Given the description of an element on the screen output the (x, y) to click on. 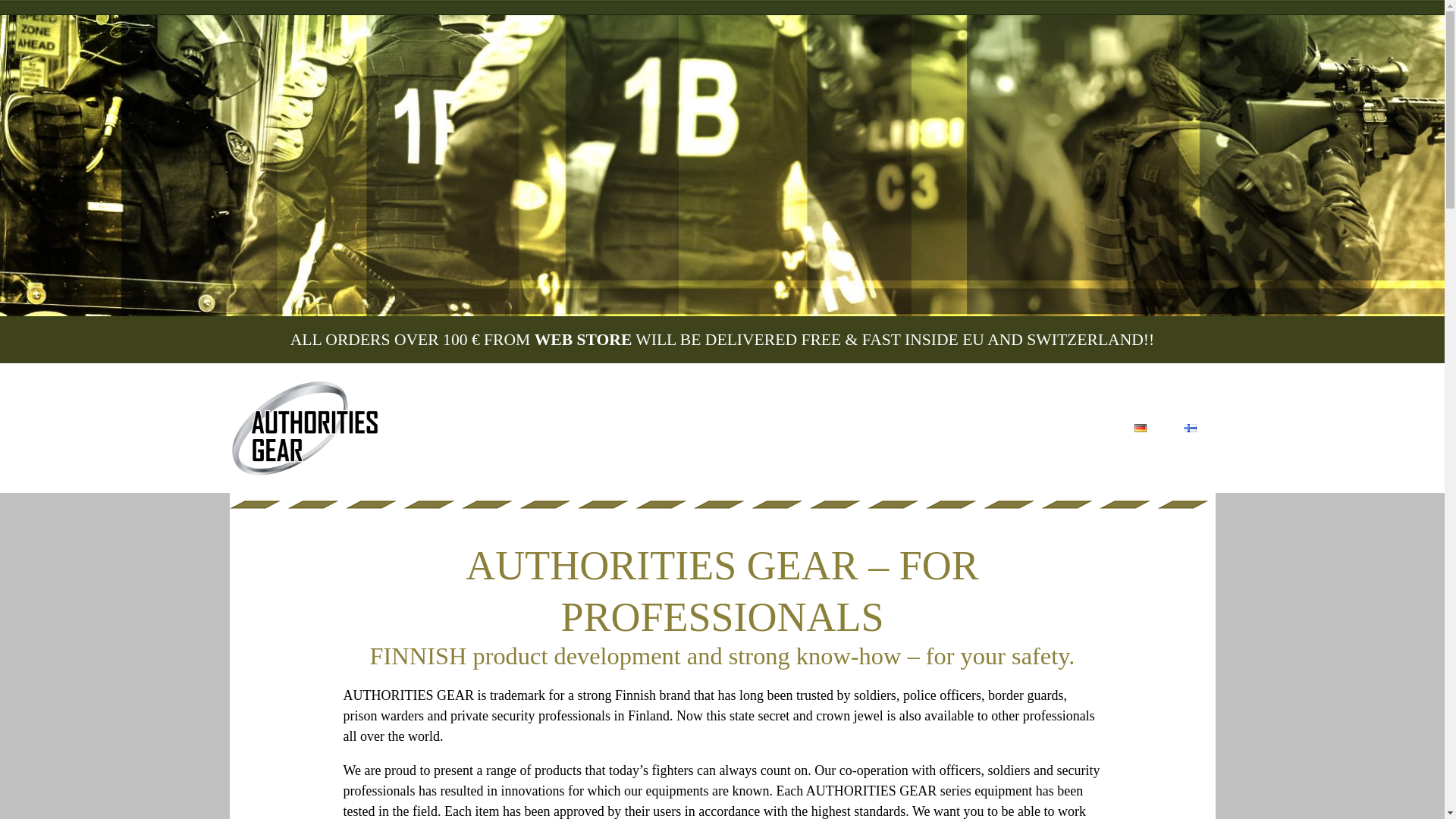
WEB STORE (582, 339)
